Given the description of an element on the screen output the (x, y) to click on. 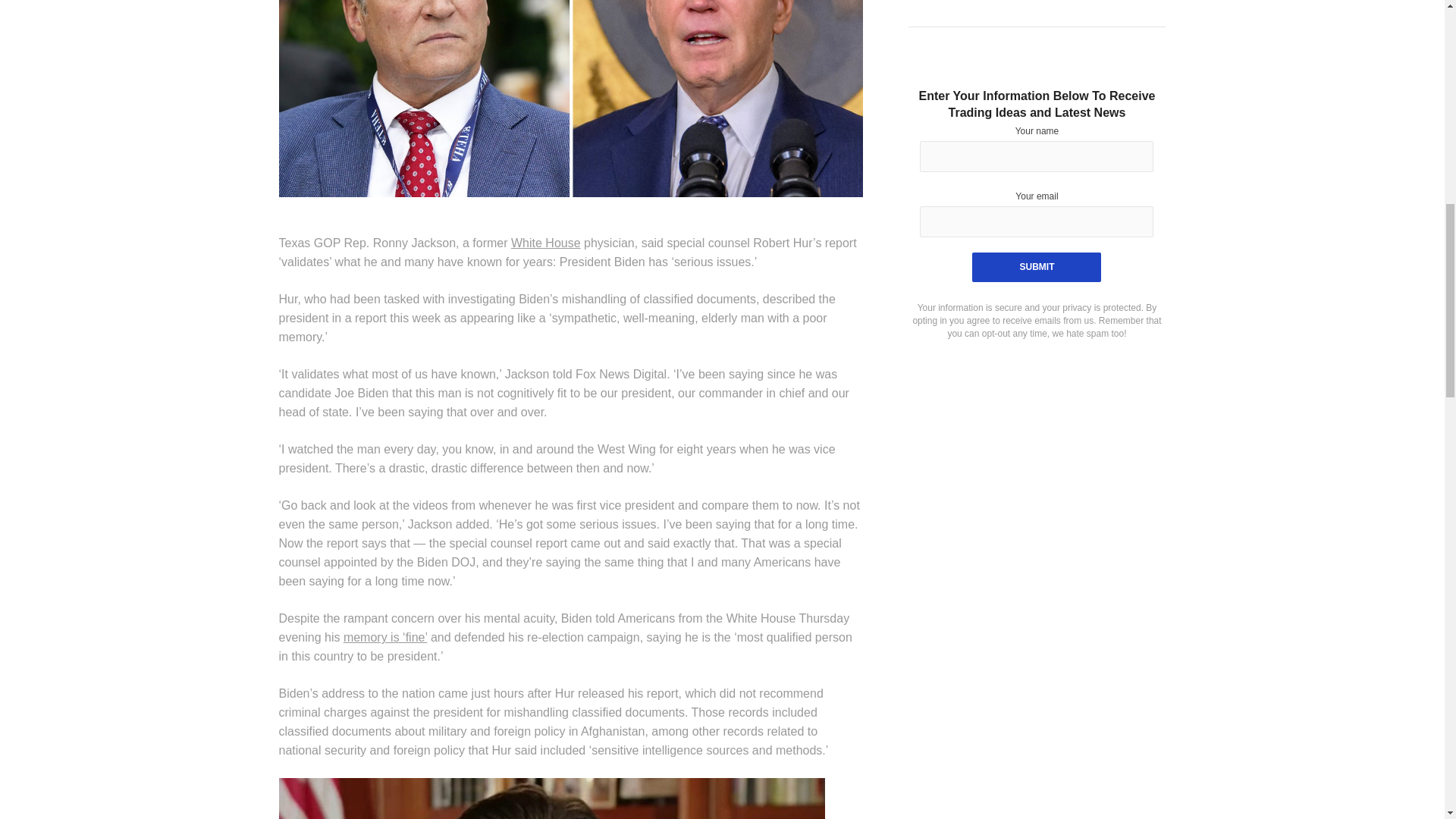
Submit (1036, 266)
Submit (1036, 266)
